Given the description of an element on the screen output the (x, y) to click on. 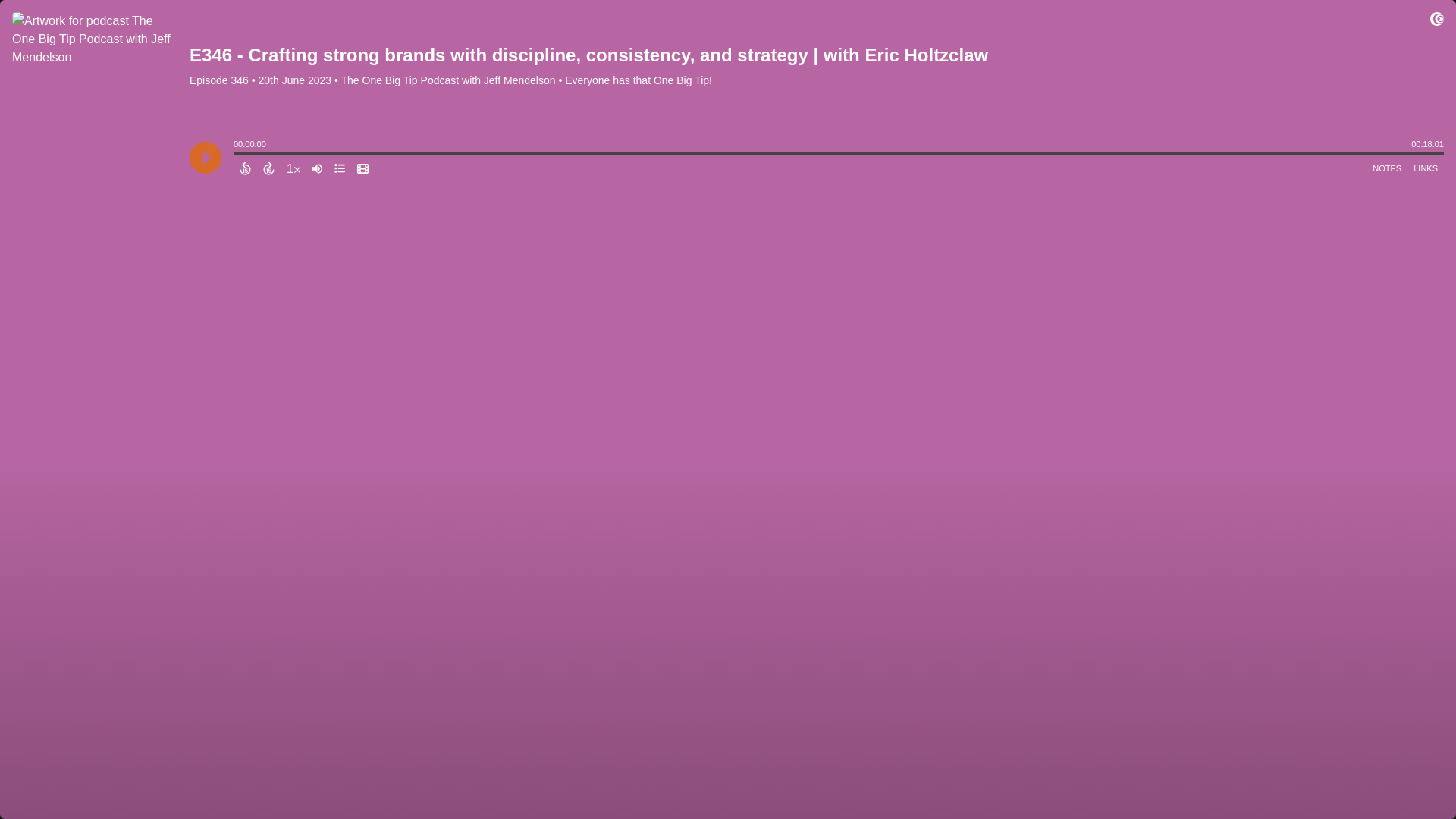
LINKS (1425, 167)
NOTES (1387, 167)
1 (293, 167)
